Given the description of an element on the screen output the (x, y) to click on. 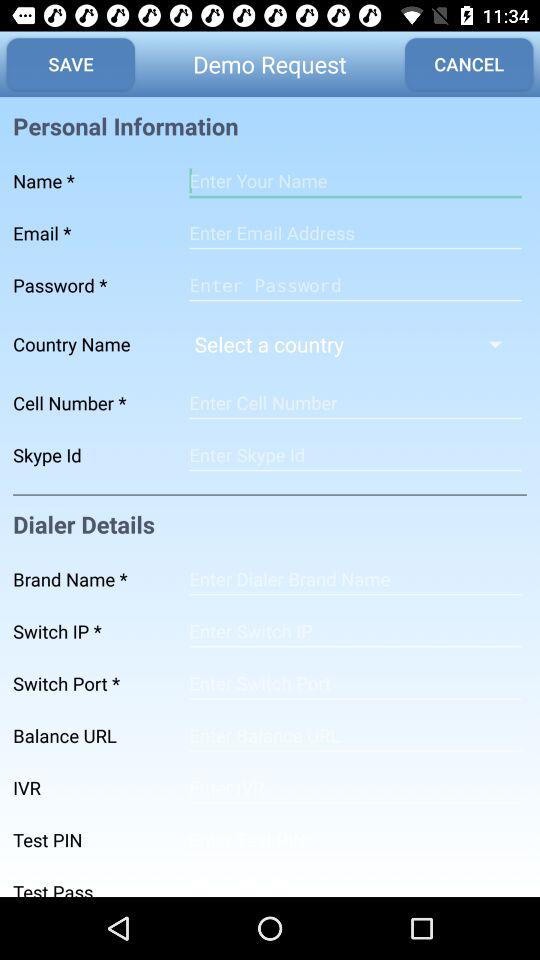
type the text (355, 735)
